Given the description of an element on the screen output the (x, y) to click on. 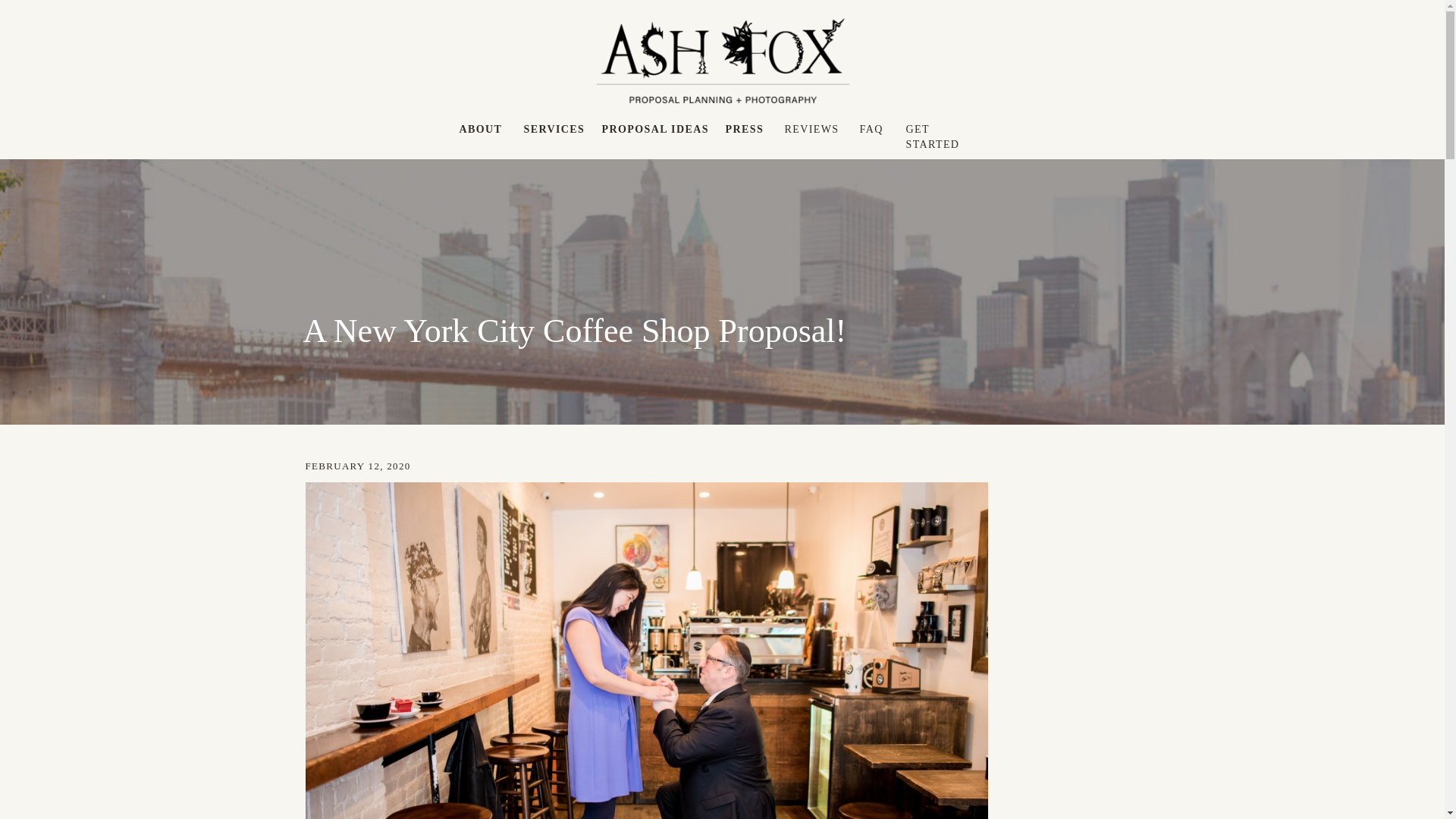
FAQ (871, 131)
ABOUT (479, 129)
PRESS (743, 131)
REVIEWS (811, 129)
PROPOSAL IDEAS (659, 131)
GET STARTED (945, 131)
SERVICES (551, 131)
